Given the description of an element on the screen output the (x, y) to click on. 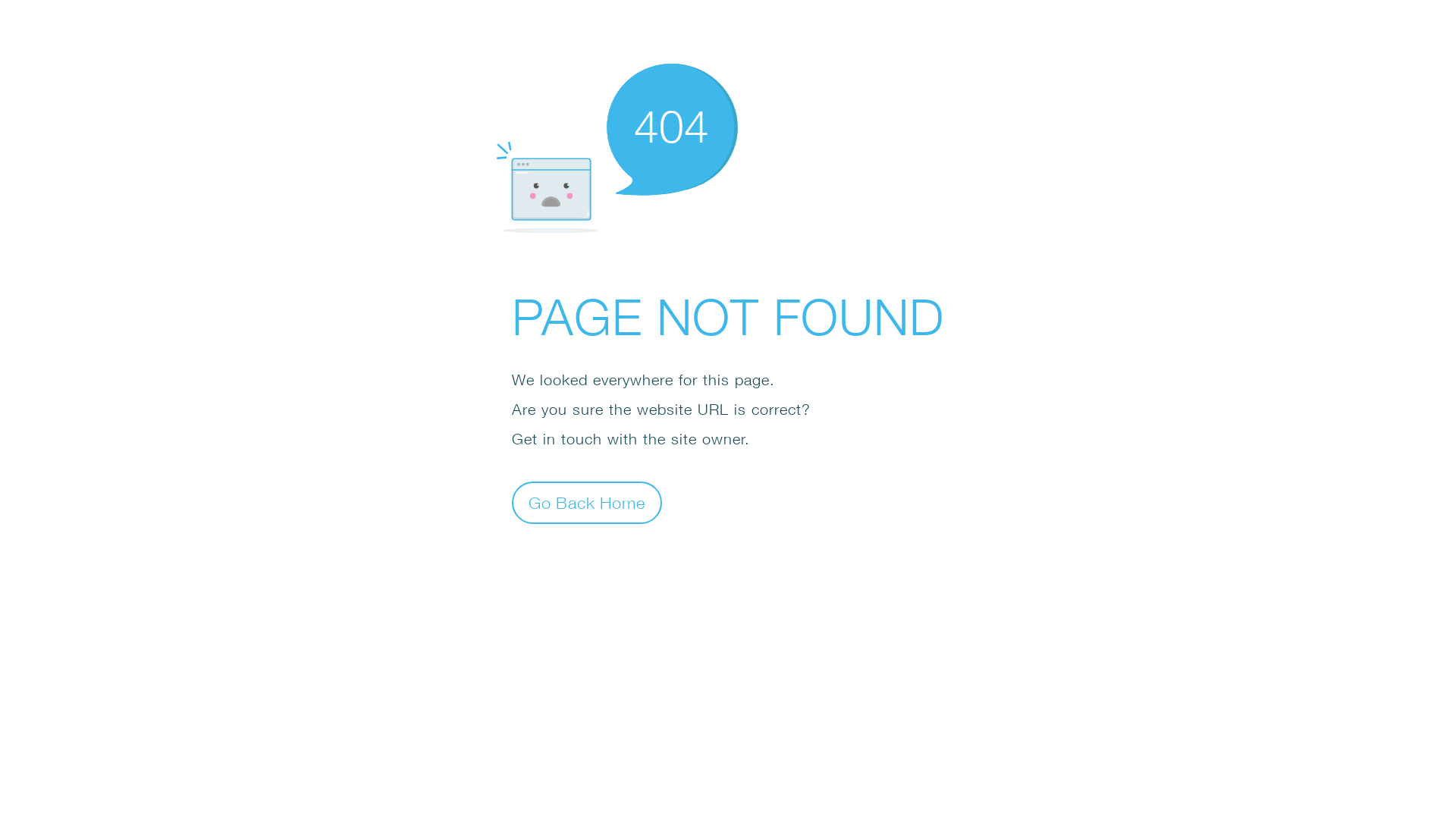
Go Back Home Element type: text (586, 502)
